Given the description of an element on the screen output the (x, y) to click on. 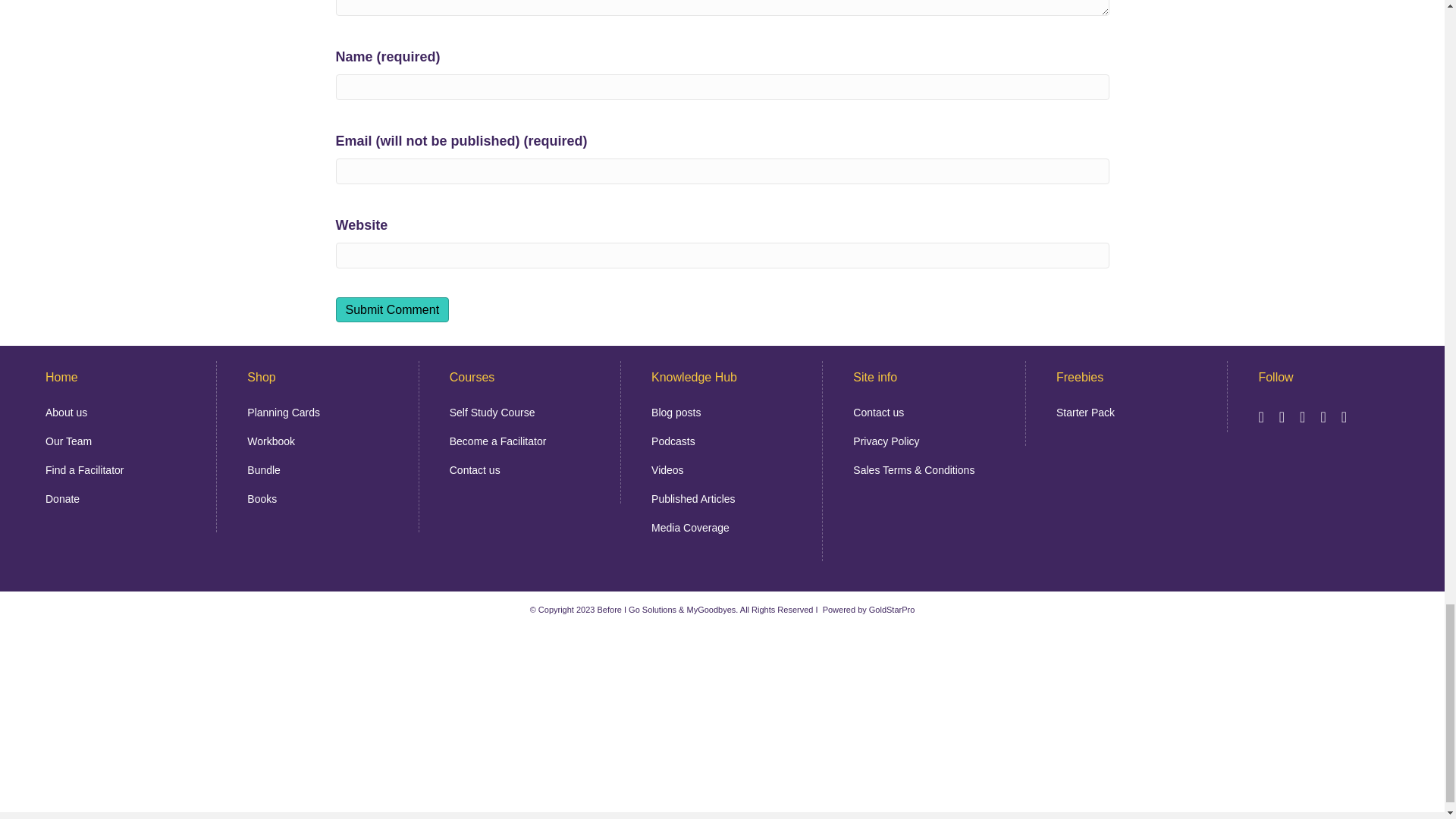
Home (61, 377)
Submit Comment (391, 309)
Courses (472, 377)
Shop (261, 377)
